Given the description of an element on the screen output the (x, y) to click on. 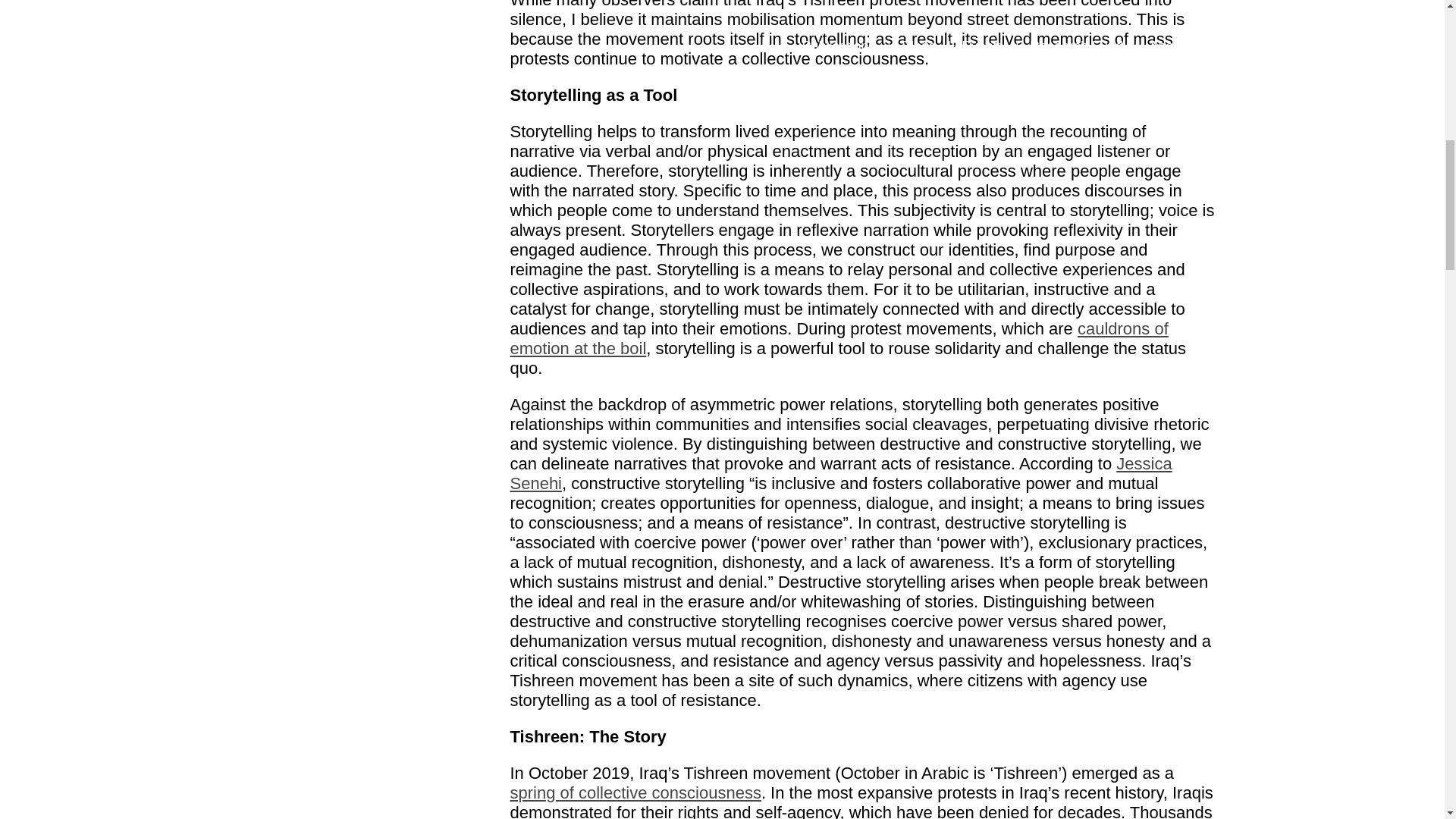
Jessica Senehi (840, 473)
cauldrons of emotion at the boil (838, 338)
spring of collective consciousness (843, 800)
